Given the description of an element on the screen output the (x, y) to click on. 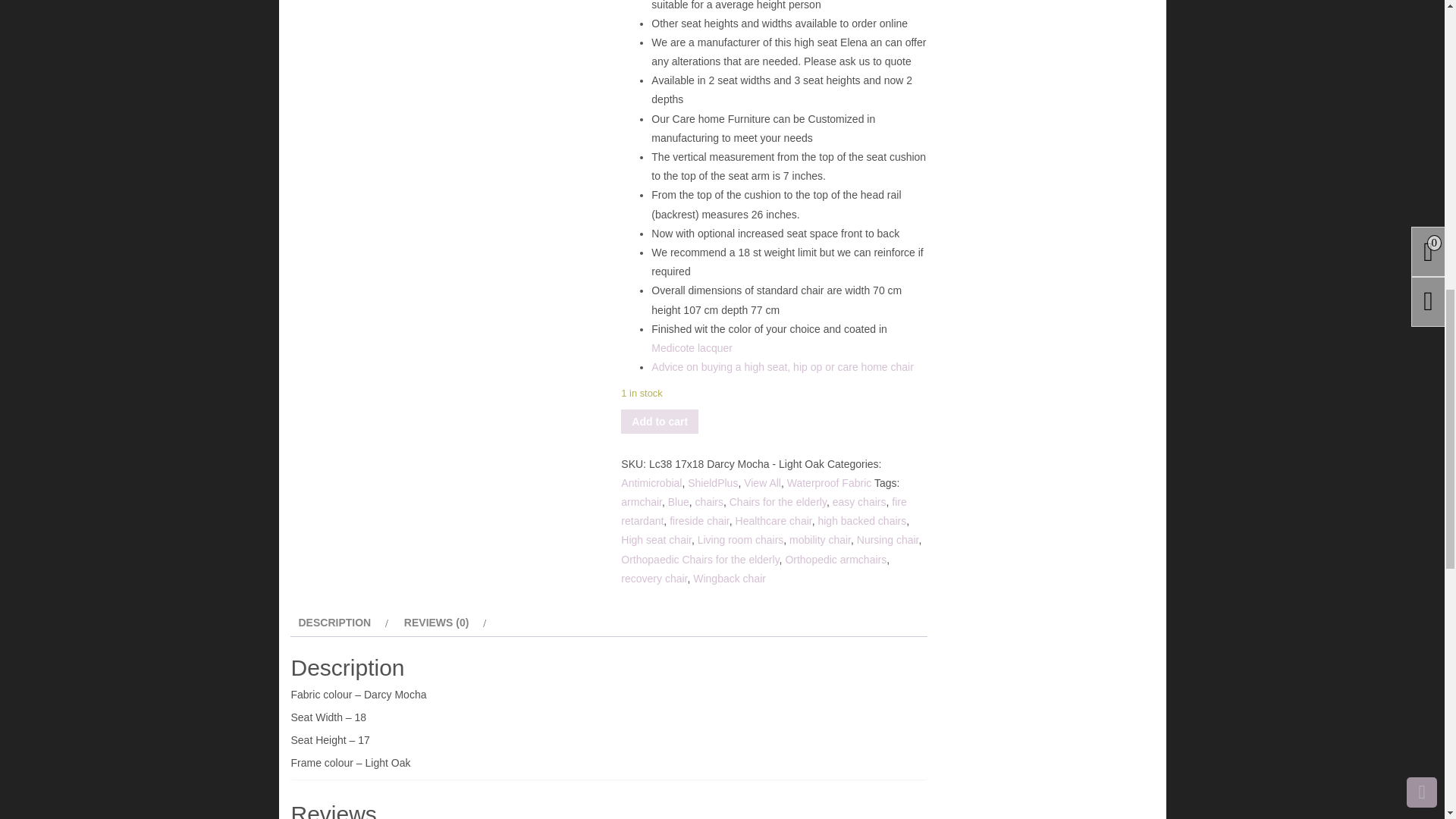
armchair (641, 501)
View All (762, 482)
Antimicrobial (651, 482)
high backed chairs (860, 521)
fire retardant (763, 511)
Waterproof Fabric (829, 482)
Healthcare chair (773, 521)
Add to cart (659, 421)
chairs (709, 501)
ShieldPlus (712, 482)
Blue (678, 501)
Chairs for the elderly (778, 501)
High seat chair (656, 539)
Advice on buying a high seat, hip op or care home chair (782, 367)
easy chairs (859, 501)
